Given the description of an element on the screen output the (x, y) to click on. 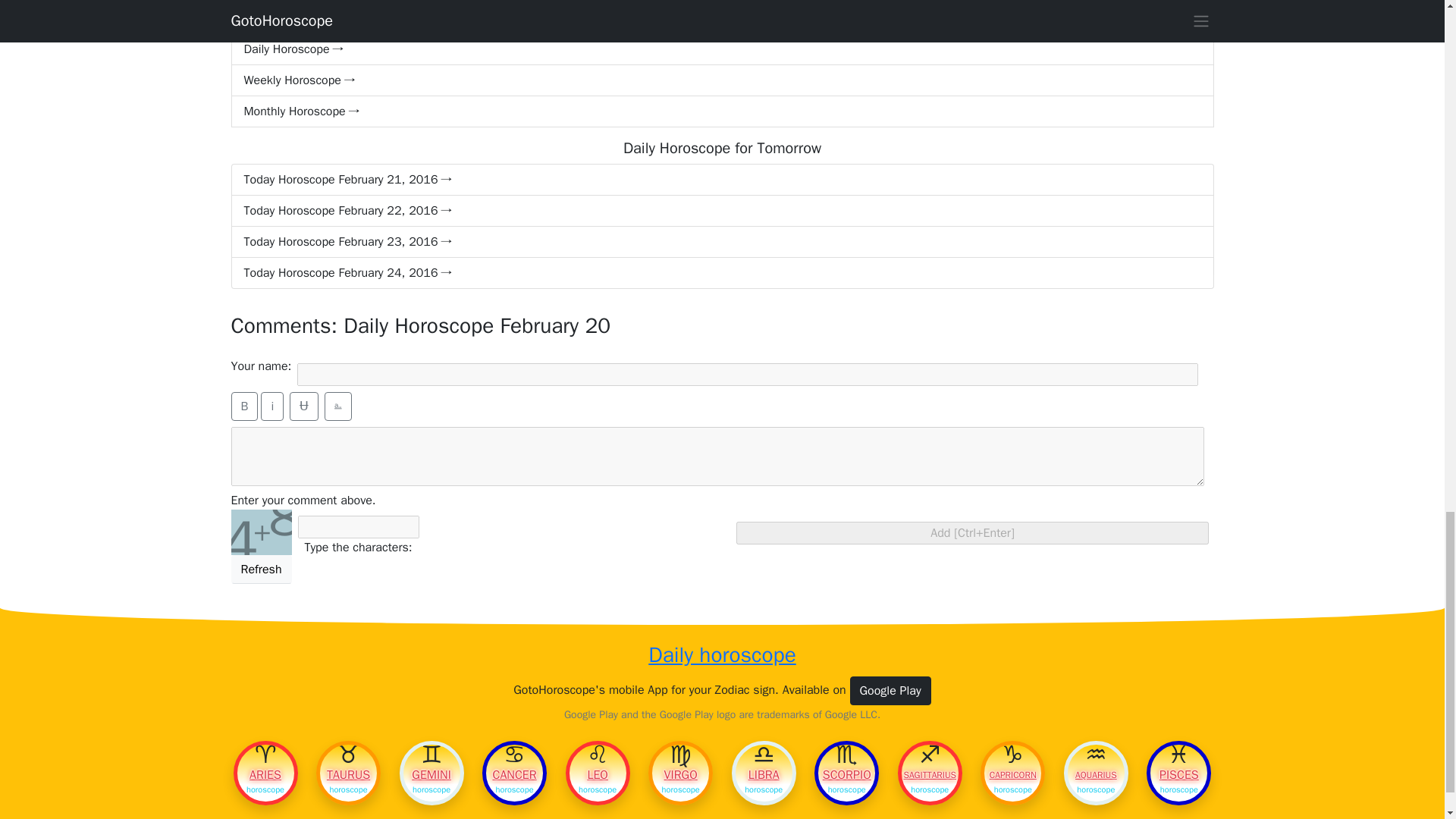
Daily Horoscope (721, 49)
Today Horoscope February 24, 2016 (721, 273)
Weekly Horoscope (721, 80)
B (243, 406)
Monthly Horoscope (721, 111)
Today Horoscope February 22, 2016 (721, 210)
Today Horoscope February 21, 2016 (721, 179)
Refresh (260, 569)
Today Horoscope February 23, 2016 (721, 241)
